Given the description of an element on the screen output the (x, y) to click on. 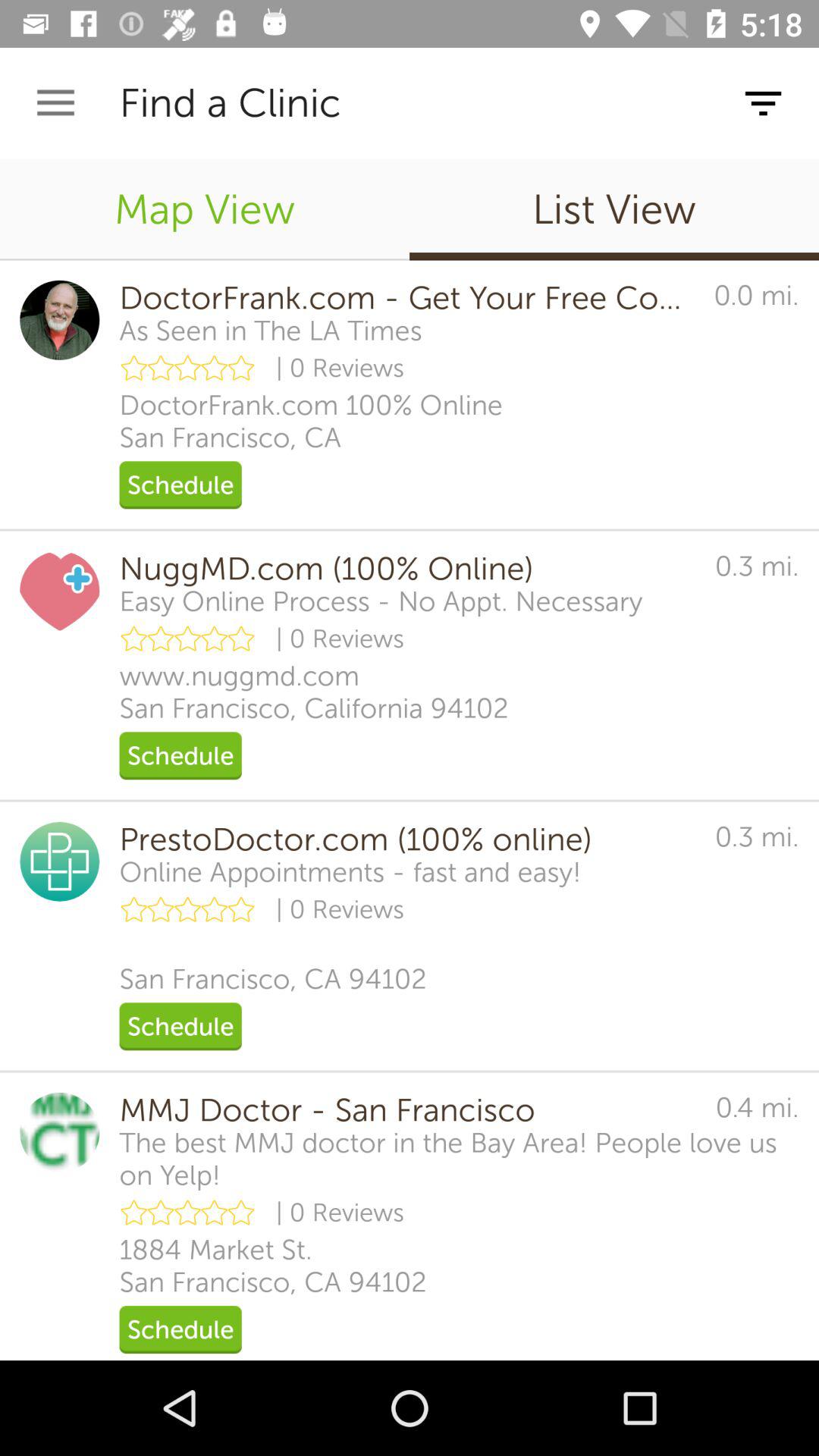
click the icon above map view item (55, 103)
